Given the description of an element on the screen output the (x, y) to click on. 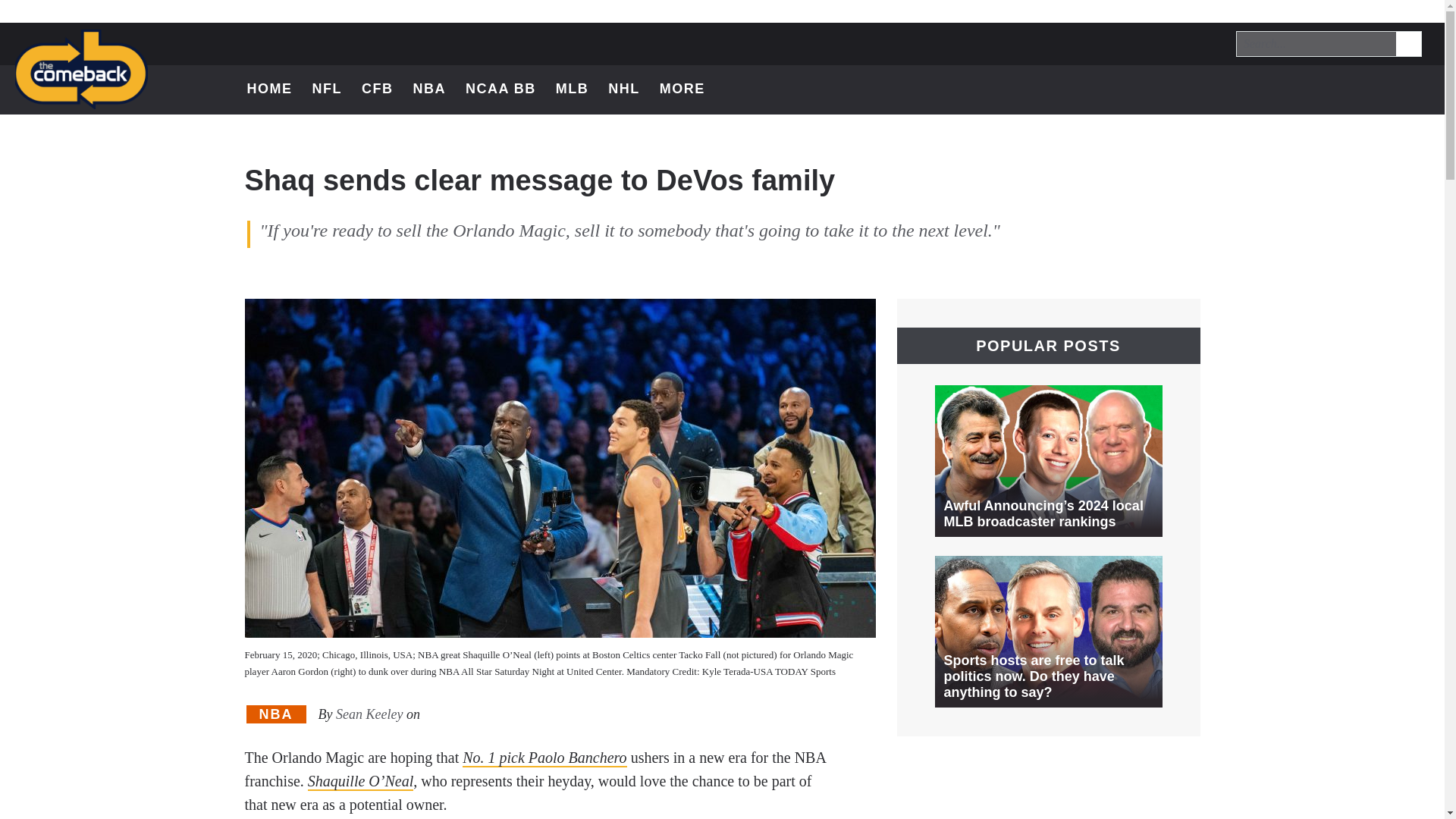
Sean Keeley (369, 713)
NHL (624, 89)
SEARCH (1407, 42)
MORE (1296, 89)
Link to Instagram (689, 89)
Link to Twitter (1409, 43)
Link to RSS (1375, 89)
NCAA BB (1296, 89)
